Given the description of an element on the screen output the (x, y) to click on. 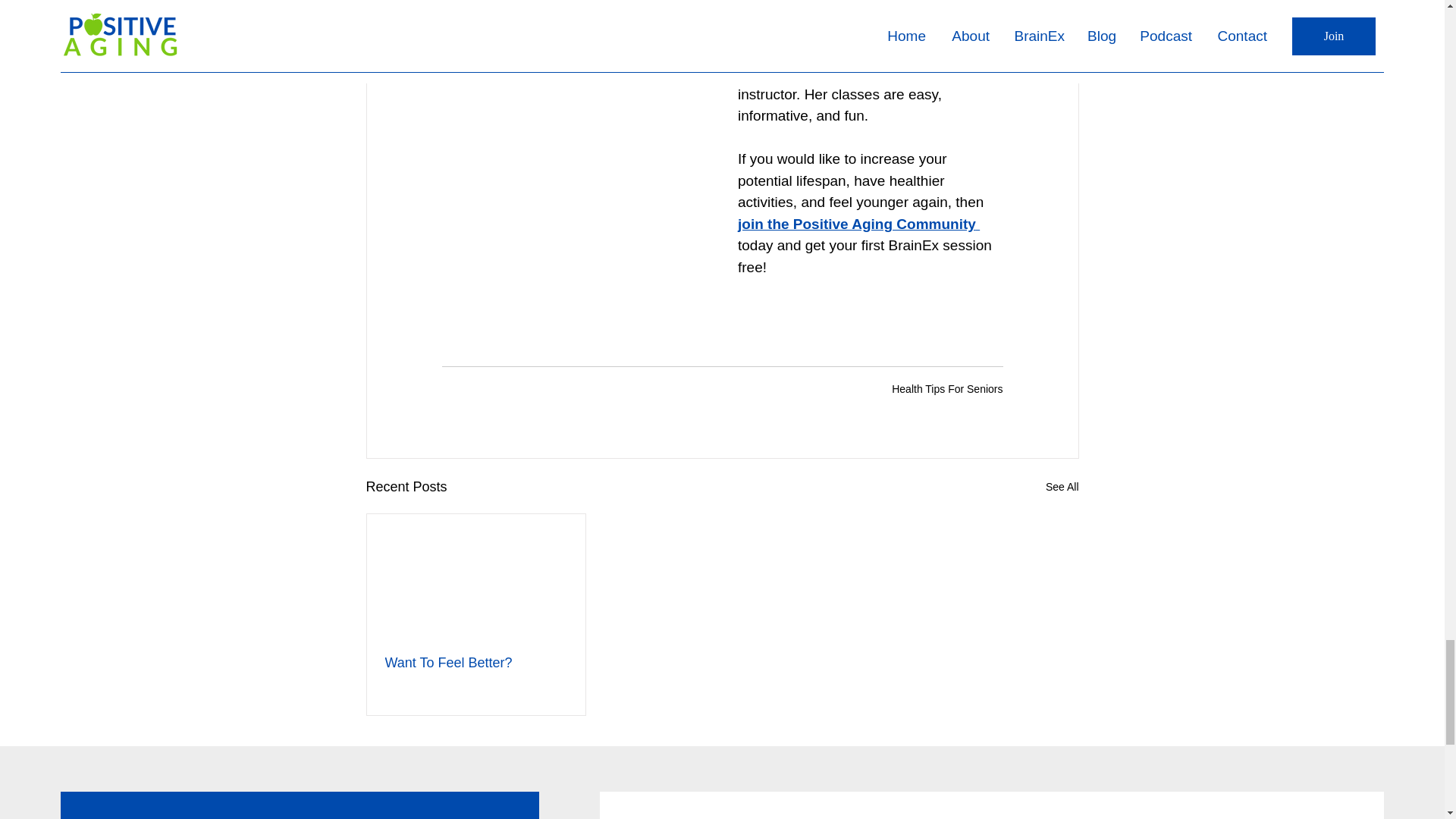
See All (1061, 486)
join the Positive Aging Community (855, 223)
Want To Feel Better? (476, 662)
Health Tips For Seniors (947, 388)
